Given the description of an element on the screen output the (x, y) to click on. 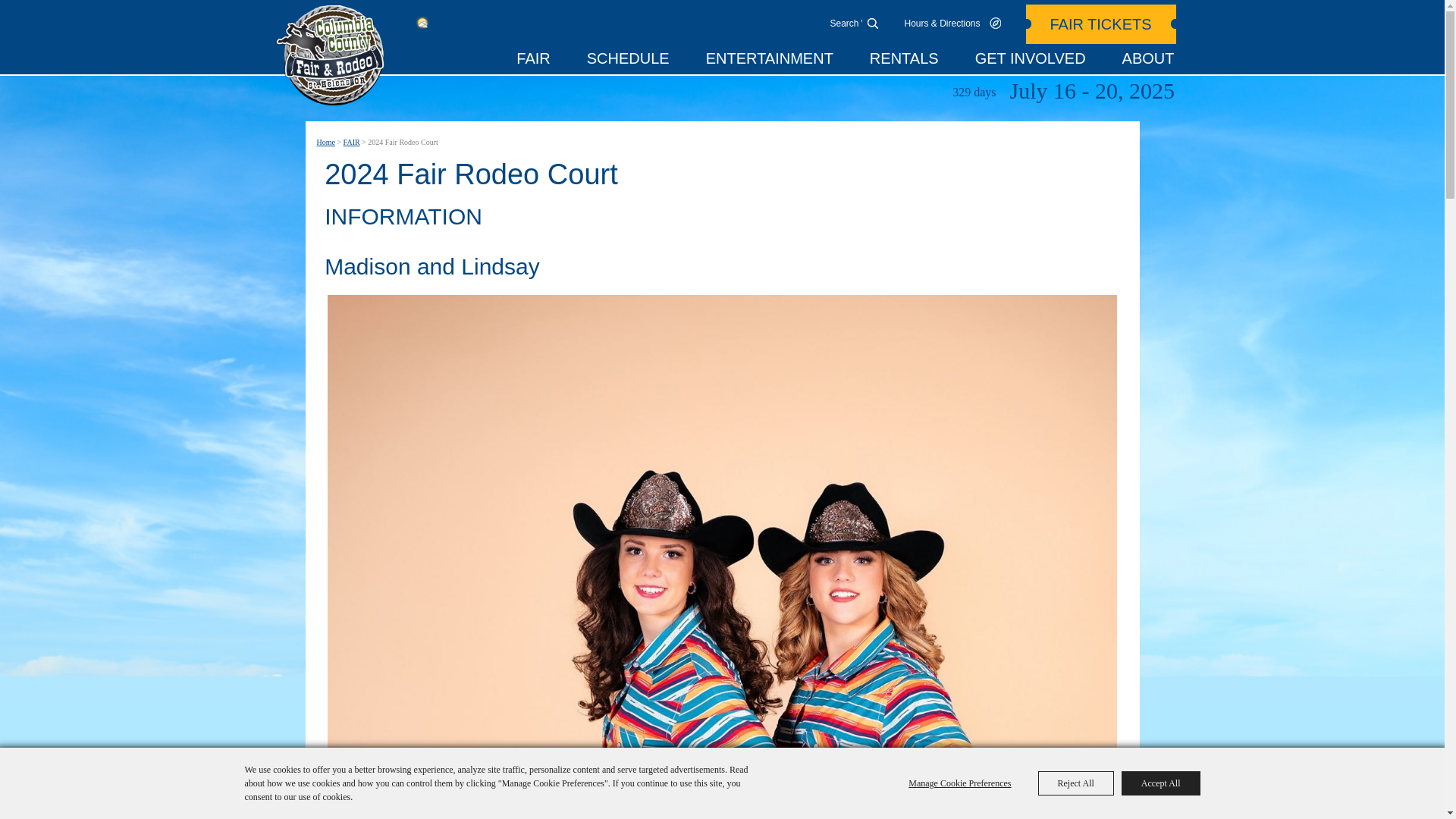
Search Website (845, 22)
GET INVOLVED (1030, 60)
Search Website (845, 22)
FAIR (533, 60)
RENTALS (904, 60)
FAIR TICKETS (1099, 24)
SCHEDULE (627, 60)
ENTERTAINMENT (769, 60)
ABOUT (1148, 60)
Search (872, 23)
